Given the description of an element on the screen output the (x, y) to click on. 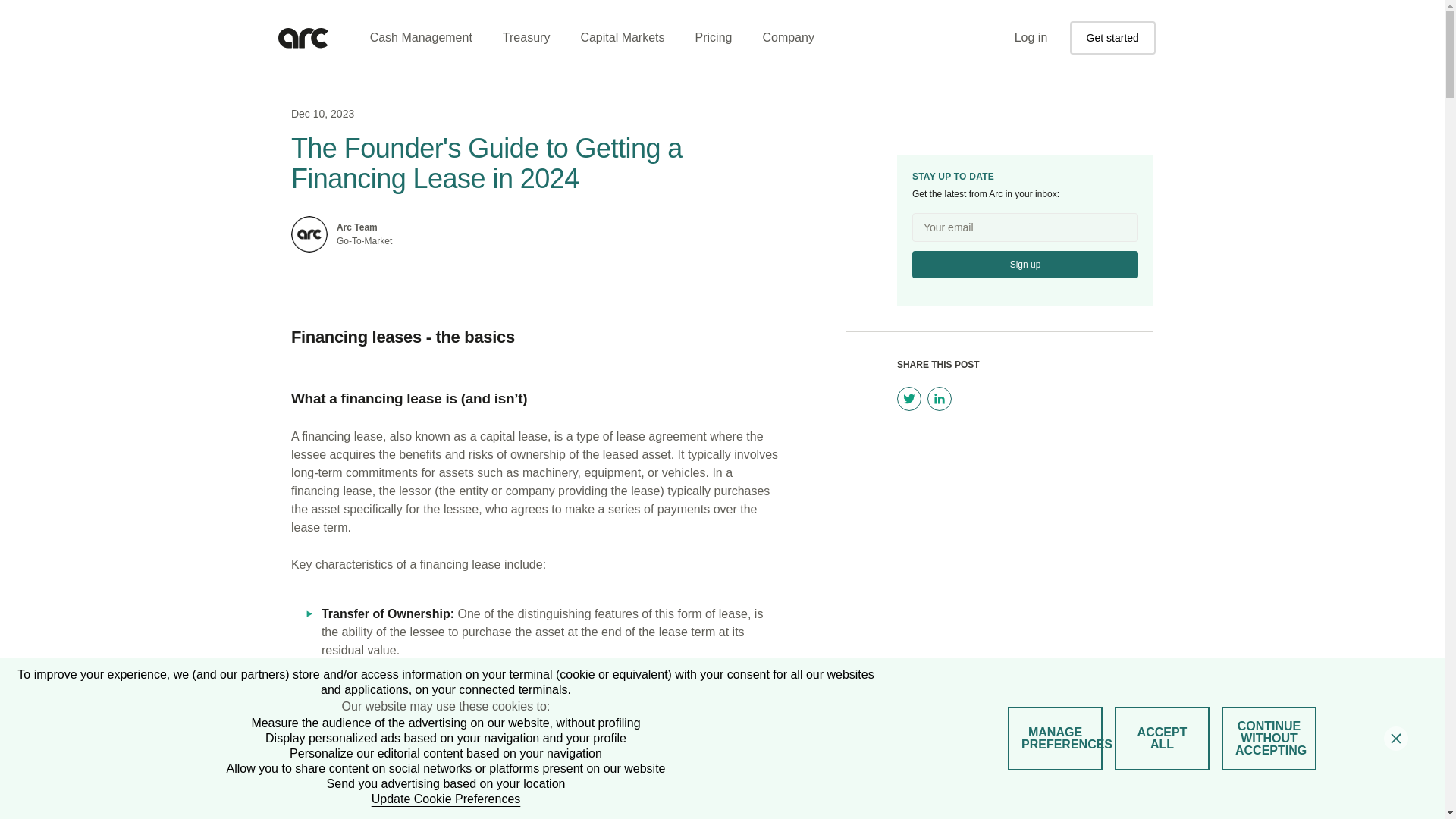
Cash Management (421, 37)
MANAGE PREFERENCES (1054, 738)
CONTINUE WITHOUT ACCEPTING (1268, 738)
Update Cookie Preferences (446, 798)
Treasury (526, 37)
Pricing (713, 37)
ACCEPT ALL (1162, 738)
Capital Markets (621, 37)
